Given the description of an element on the screen output the (x, y) to click on. 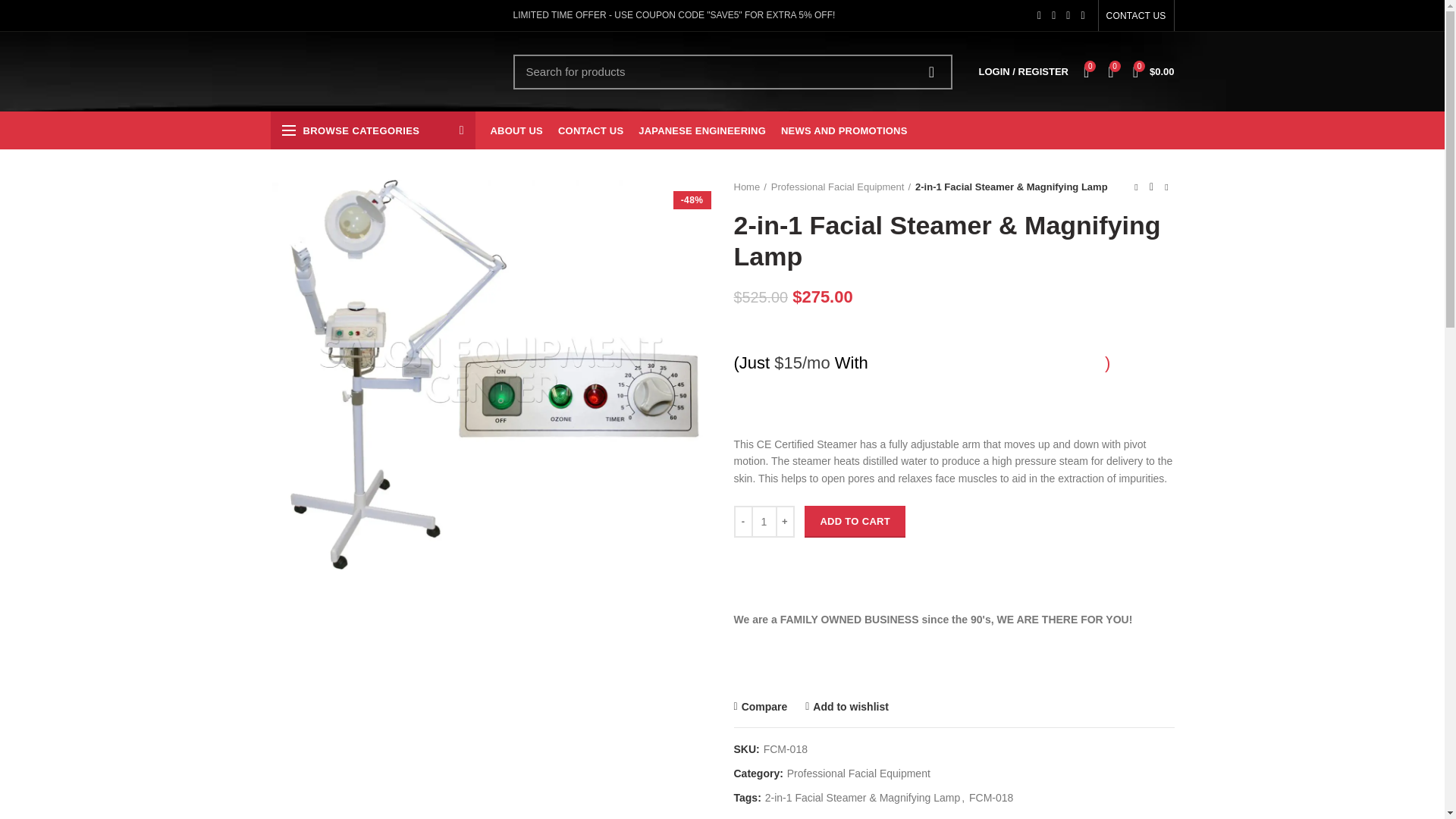
CONTACT US (1136, 15)
SEARCH (931, 71)
My account (1023, 71)
Shopping cart (1153, 71)
